Given the description of an element on the screen output the (x, y) to click on. 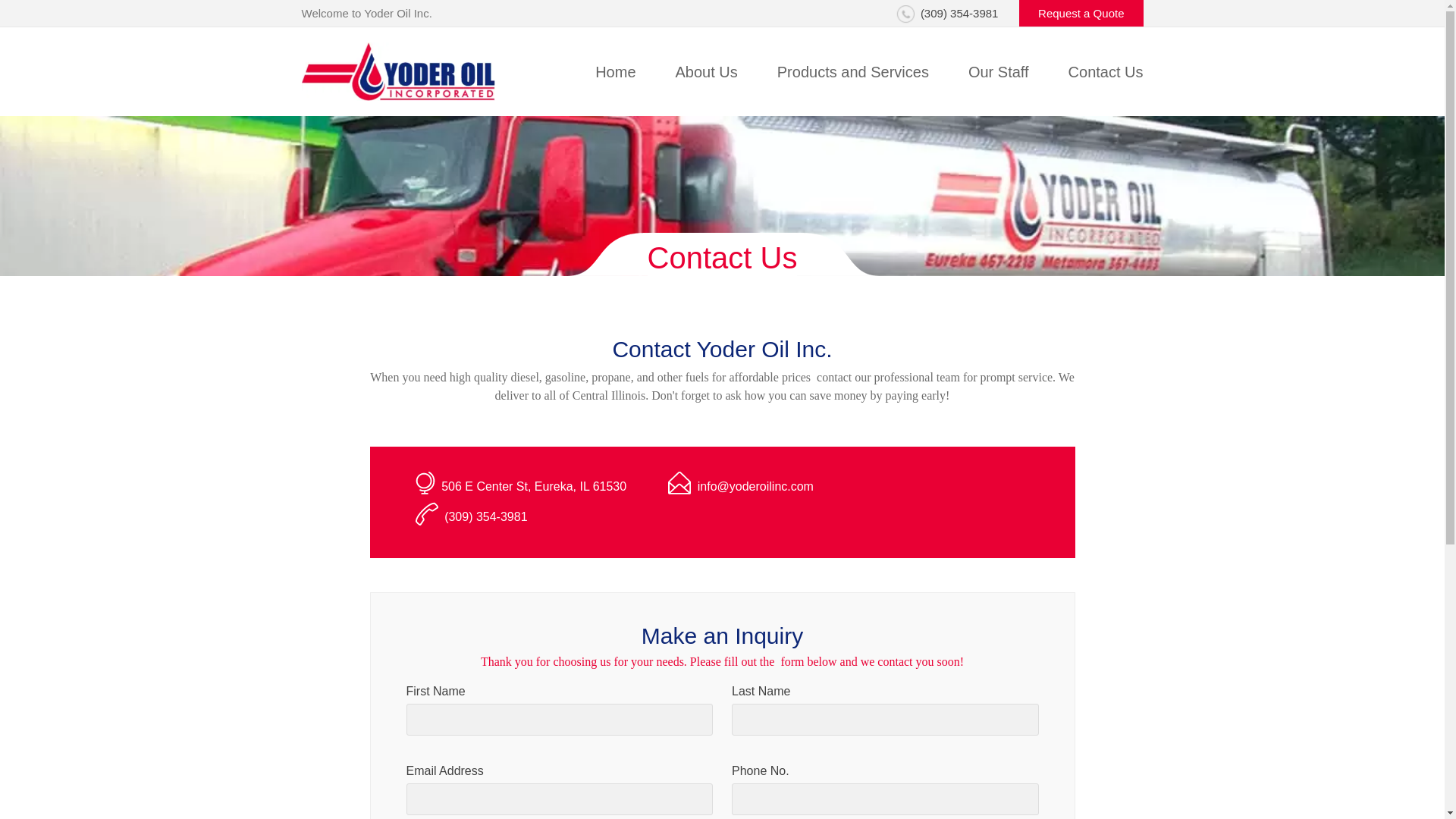
Home (614, 71)
Contact Us (1105, 71)
Products and Services (852, 71)
About Us (706, 71)
Request a Quote (1080, 13)
Our Staff (998, 71)
